Given the description of an element on the screen output the (x, y) to click on. 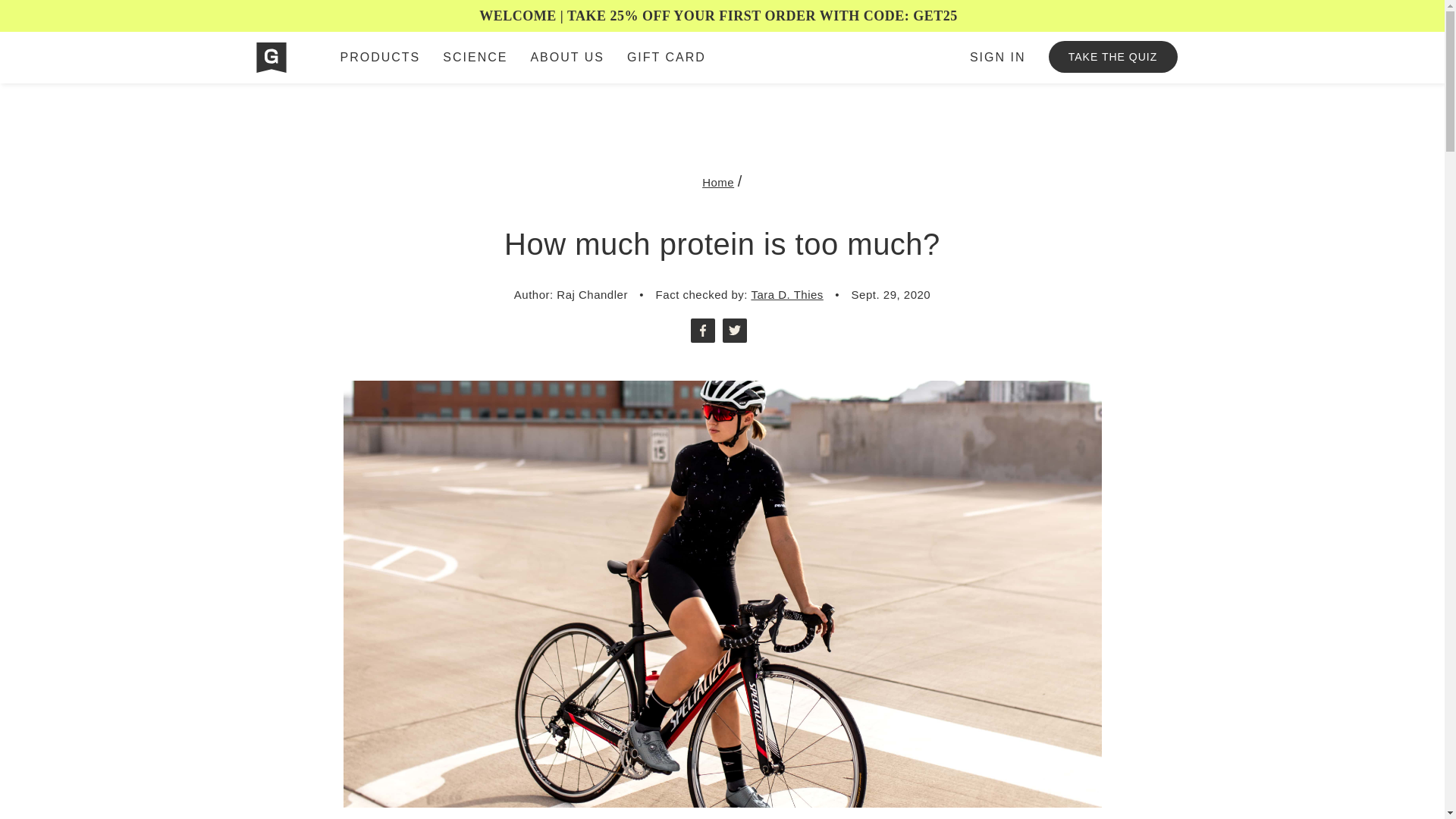
TAKE THE QUIZ (1112, 56)
SIGN IN (997, 57)
PRODUCTS (380, 57)
SCIENCE (474, 57)
GIFT CARD (666, 57)
ABOUT US (566, 57)
